Given the description of an element on the screen output the (x, y) to click on. 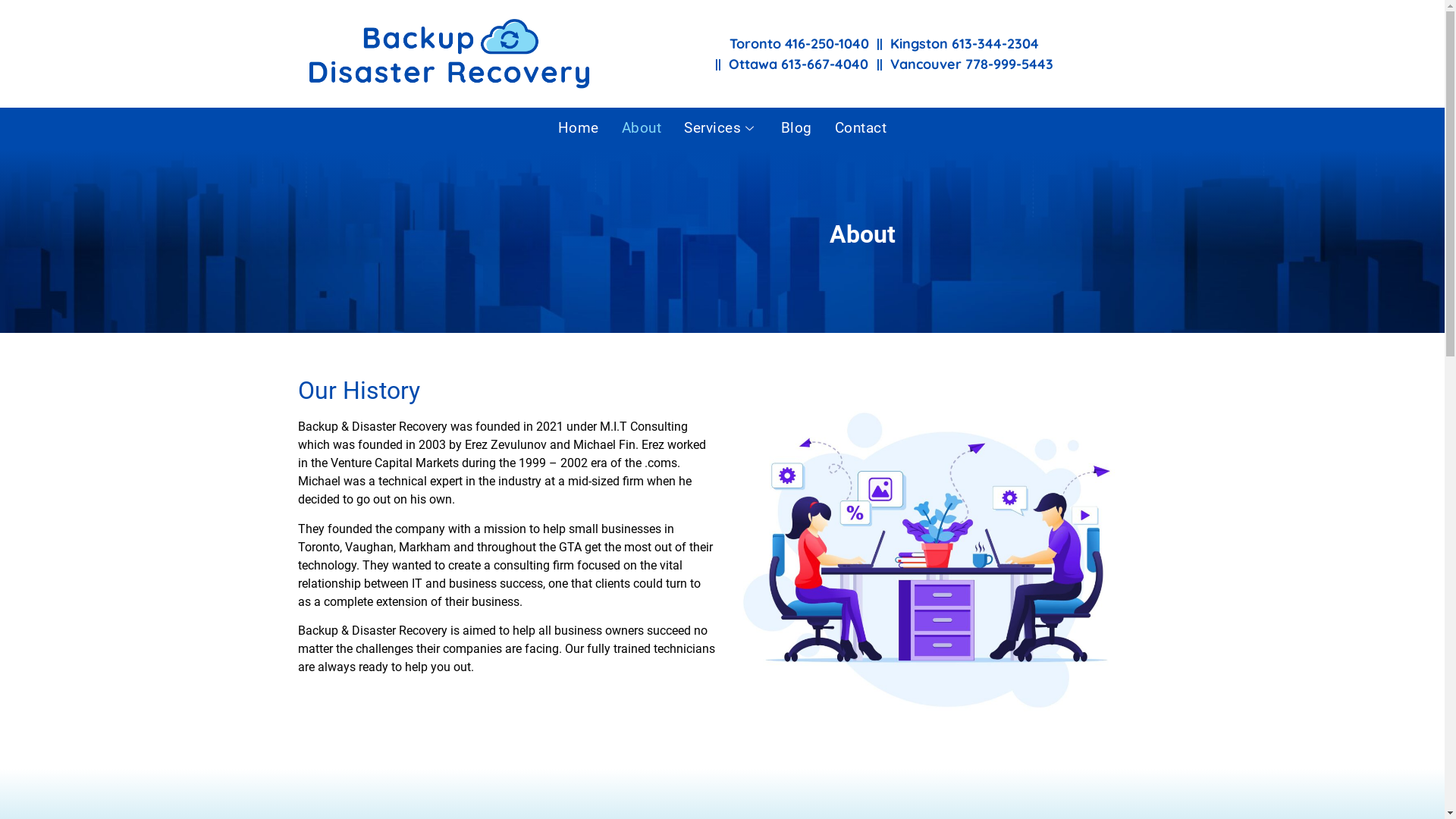
Toronto 416-250-1040 Element type: text (797, 43)
Vancouver 778-999-5443 Element type: text (962, 63)
About Element type: text (641, 128)
Blog Element type: text (796, 128)
Services Element type: text (720, 128)
Contact Element type: text (860, 128)
Kingston 613-344-2304 Element type: text (955, 43)
Home Element type: text (578, 128)
Ottawa 613-667-4040 Element type: text (790, 63)
